Given the description of an element on the screen output the (x, y) to click on. 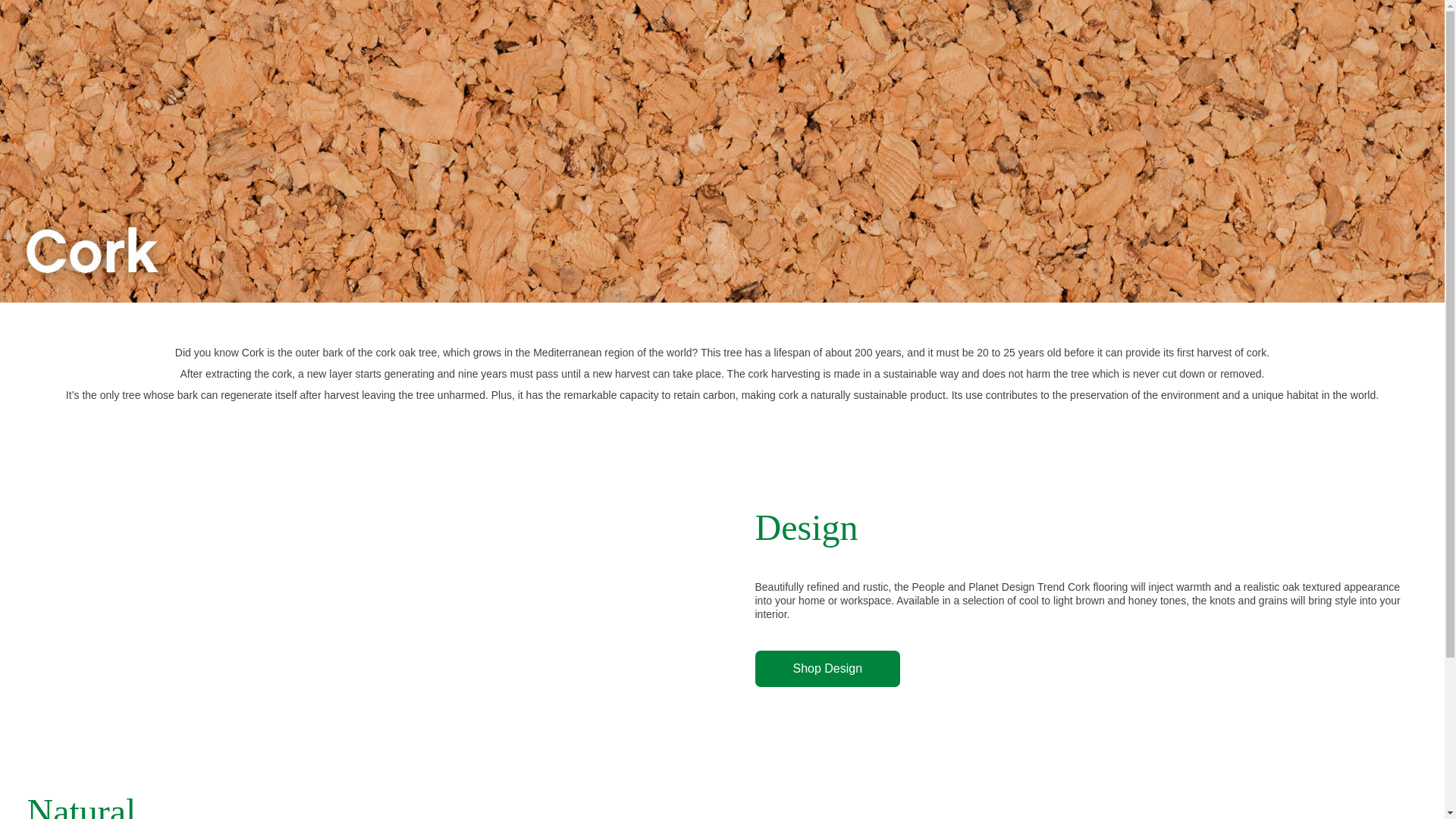
Shop Design cork flooring (828, 668)
Shop Design (828, 668)
